Given the description of an element on the screen output the (x, y) to click on. 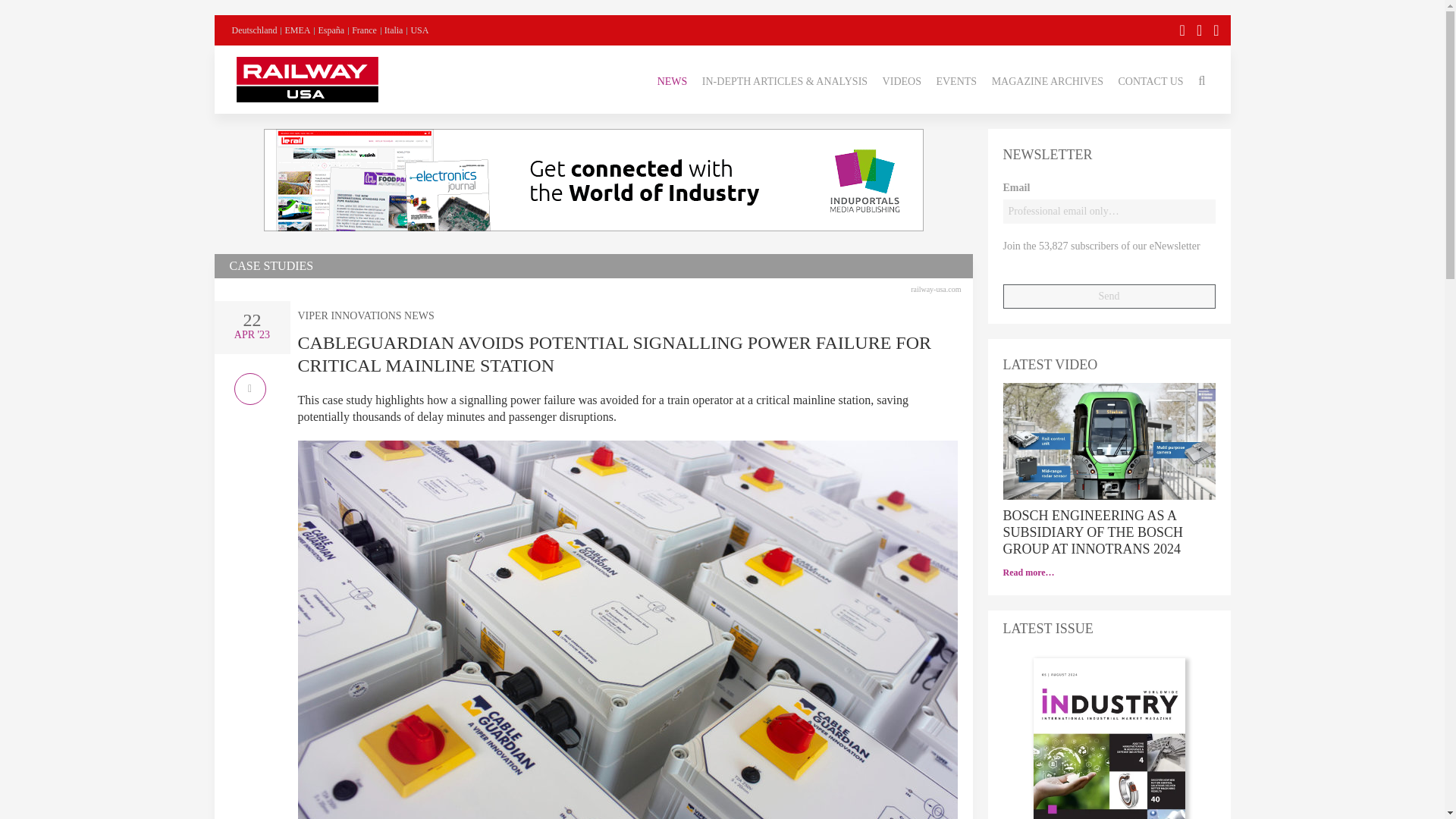
MAGAZINE ARCHIVES (1047, 79)
EMEA (296, 29)
EVENTS (956, 79)
USA (419, 29)
Send (1108, 296)
CONTACT US (1150, 79)
VIDEOS (901, 79)
NEWS (672, 79)
France (364, 29)
Deutschland (254, 29)
Italia (393, 29)
